Given the description of an element on the screen output the (x, y) to click on. 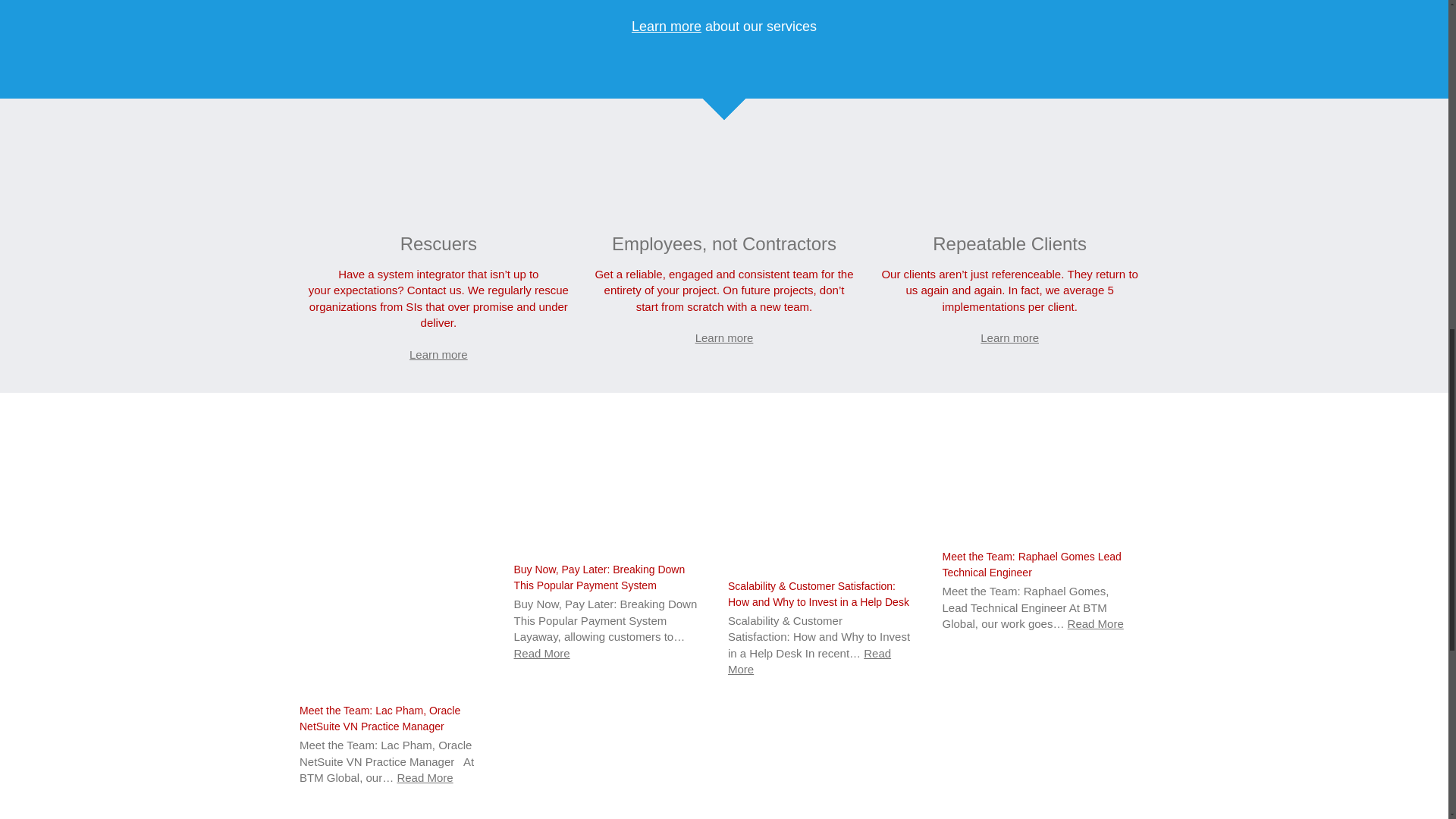
Learn more about our services (723, 26)
Meet the Team: Lac Pham, Oracle NetSuite VN Practice Manager (379, 718)
Learn more (724, 337)
Learn more (1009, 337)
Learn more (438, 354)
